Given the description of an element on the screen output the (x, y) to click on. 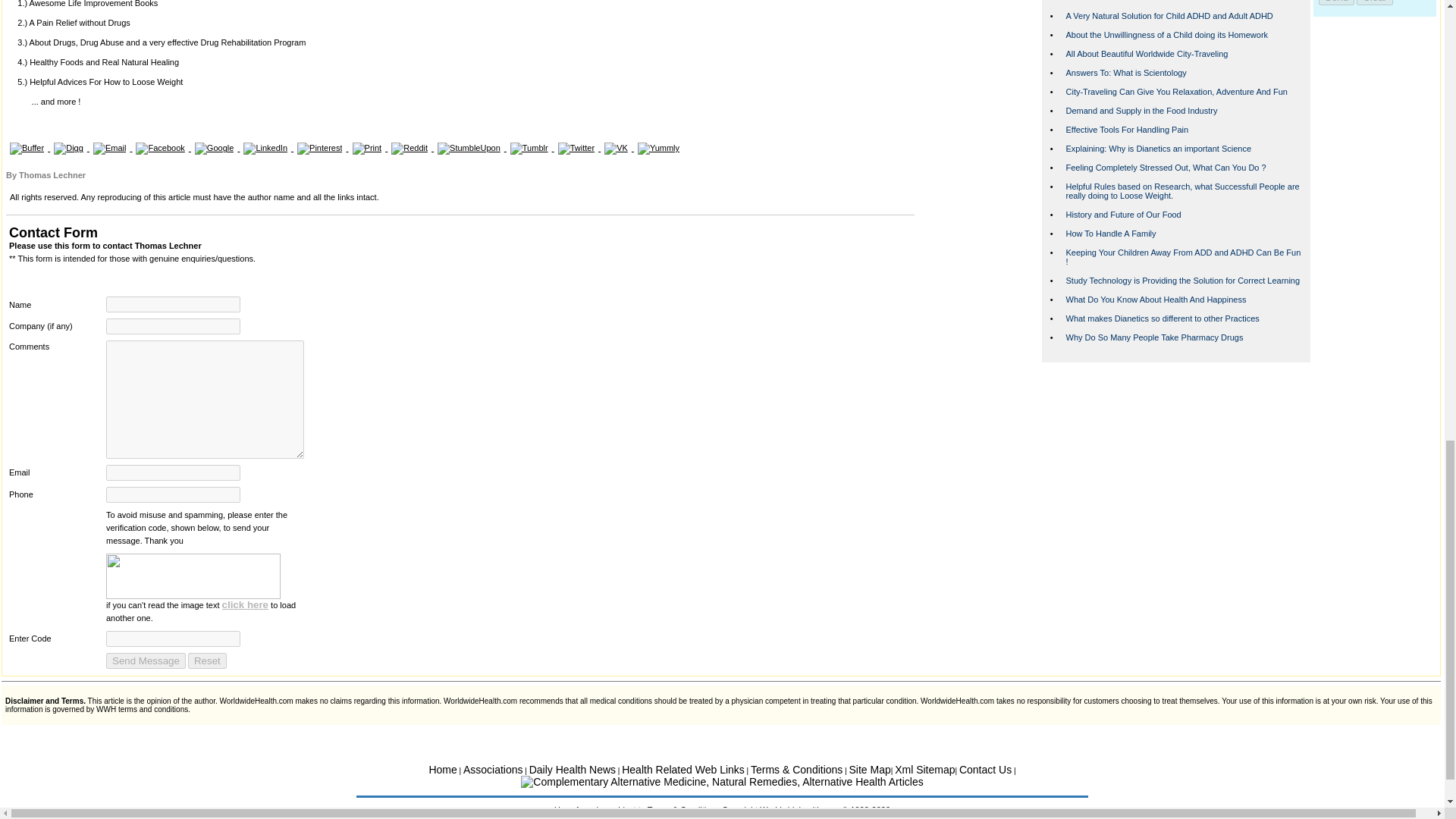
Clear (1374, 2)
Send (1336, 2)
Reset (207, 660)
Send (1336, 2)
Send Message (146, 660)
A Great Glance At Dianetics ! (1119, 0)
click here (245, 604)
